Given the description of an element on the screen output the (x, y) to click on. 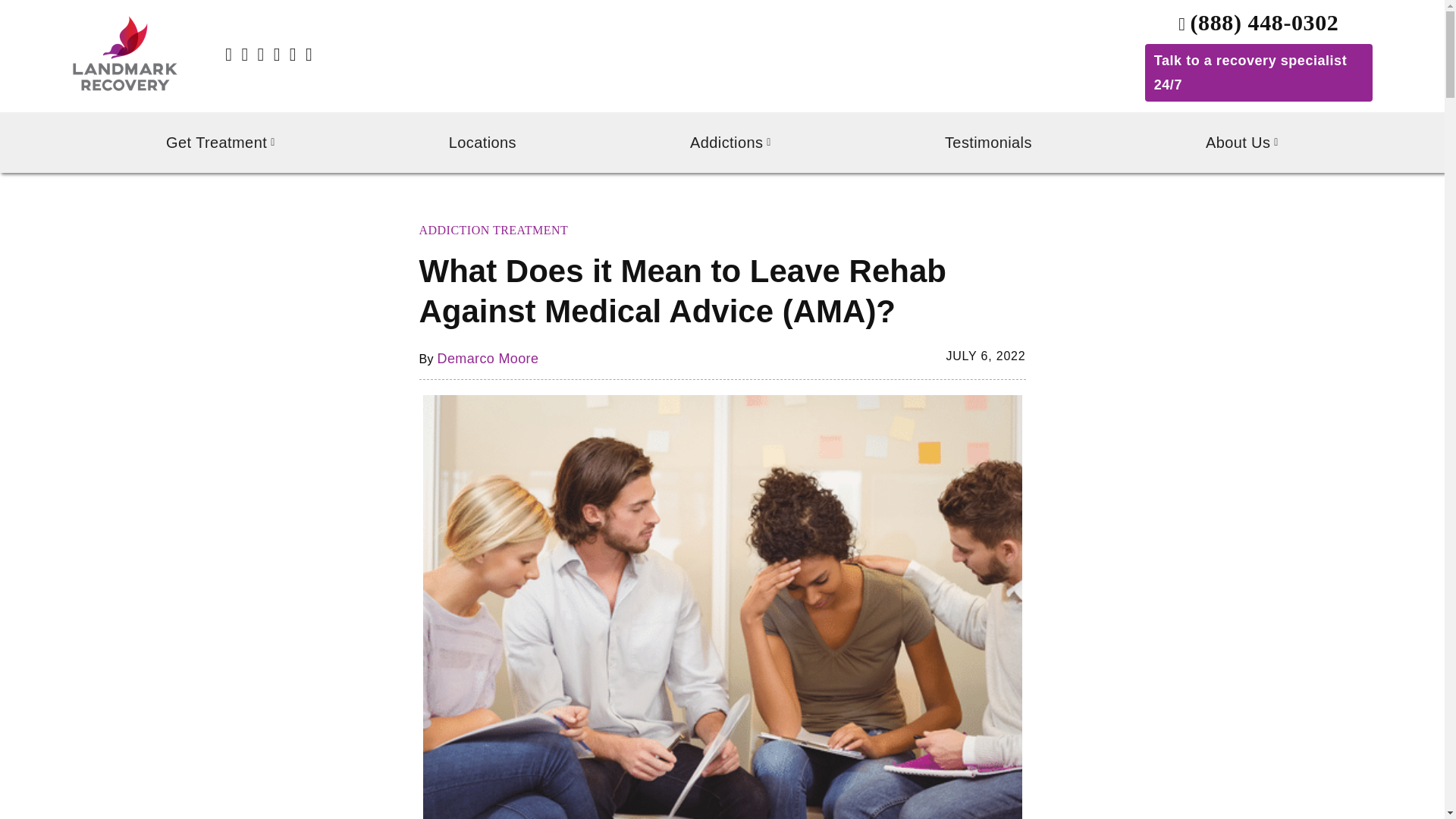
Get Treatment (220, 142)
Locations (482, 142)
Testimonials (988, 142)
Demarco Moore (488, 358)
About Us (1241, 142)
Addictions (730, 142)
